Given the description of an element on the screen output the (x, y) to click on. 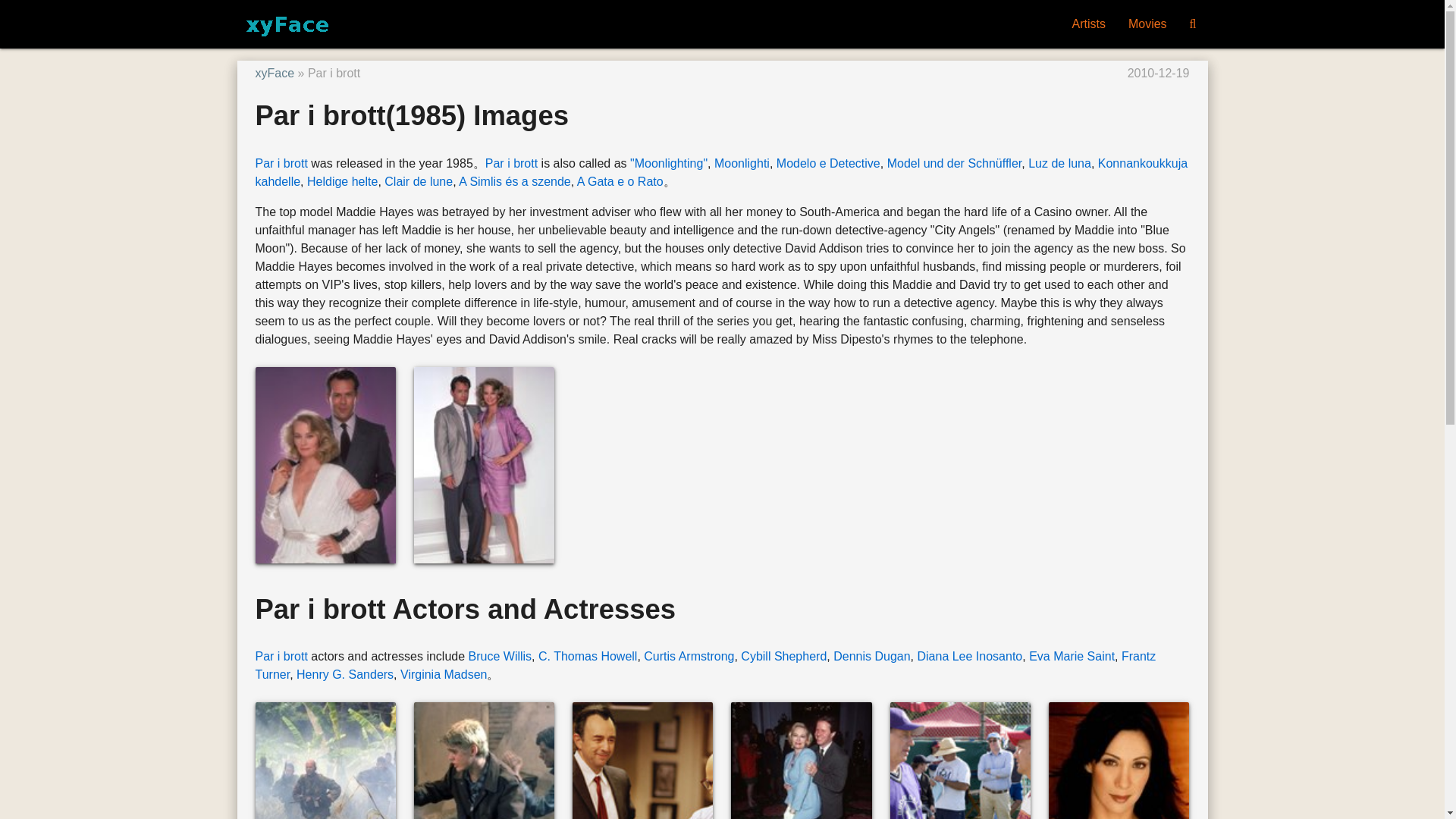
Heldige helte (342, 181)
xyFace (274, 72)
Par i brott (280, 656)
Artists (1087, 24)
Clair de lune (418, 181)
Dennis Dugan (871, 656)
Eva Marie Saint (1072, 656)
C. Thomas Howell (587, 656)
Frantz Turner (705, 665)
Movies (1146, 24)
Modelo e Detective (828, 163)
Curtis Armstrong (688, 656)
Luz de luna (1058, 163)
Konnankoukkuja kahdelle (721, 172)
Moonlighti (742, 163)
